Given the description of an element on the screen output the (x, y) to click on. 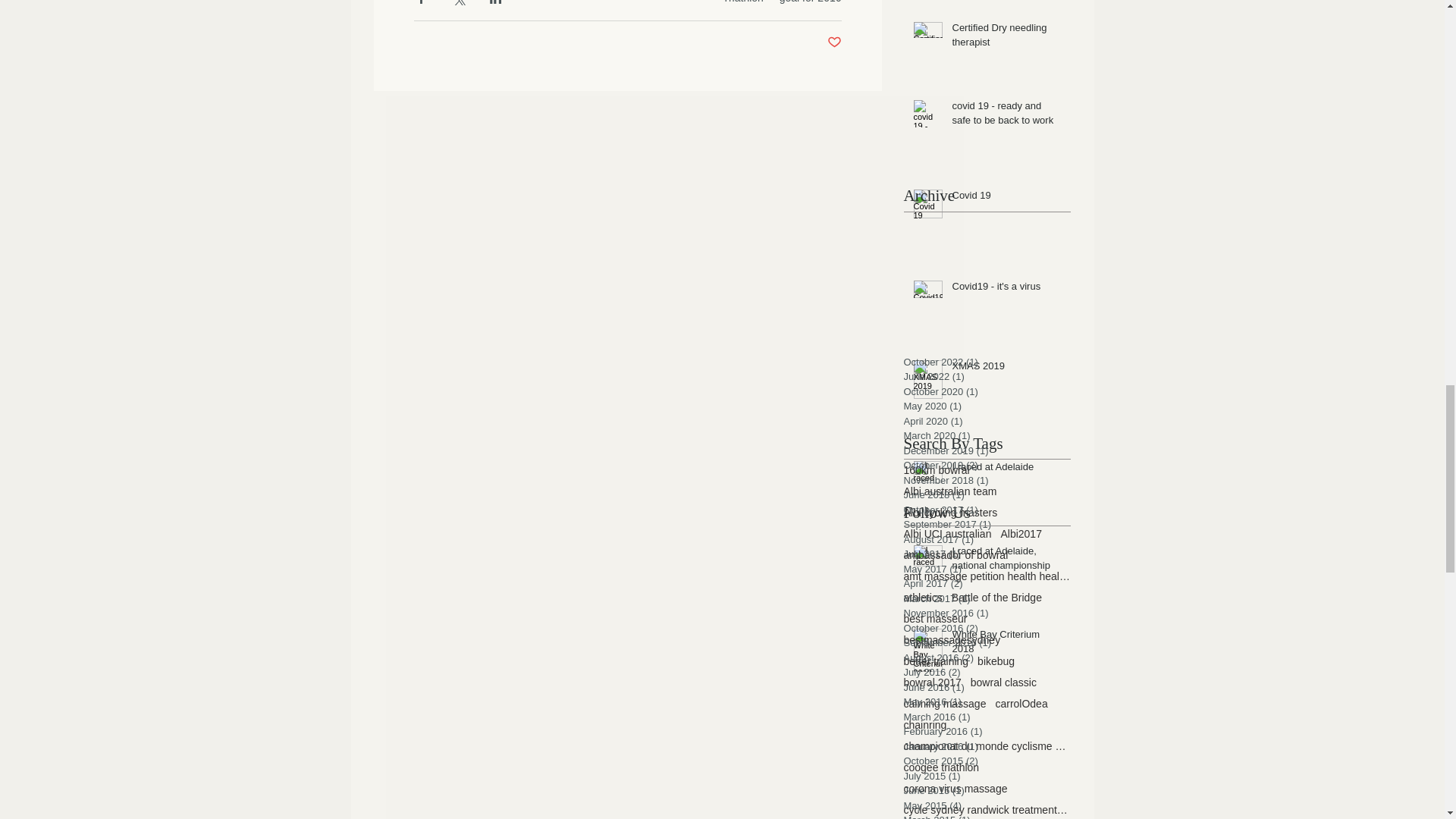
Covid 19 (1006, 198)
athletics (923, 597)
goal for 2016 (809, 2)
Battle of the Bridge (997, 597)
Albi2017 (1021, 533)
Covid19 - it's a virus (1006, 289)
amt massage petition health health care rebate rem (987, 576)
XMAS 2019 (1006, 369)
160km bowral (936, 469)
I raced at Adelaide (1006, 469)
Post not marked as liked (834, 42)
Albi australian team (950, 491)
Certified Dry needling therapist (1006, 37)
I raced at Adelaide, national championship (1006, 561)
ambassador of bowral (956, 554)
